Given the description of an element on the screen output the (x, y) to click on. 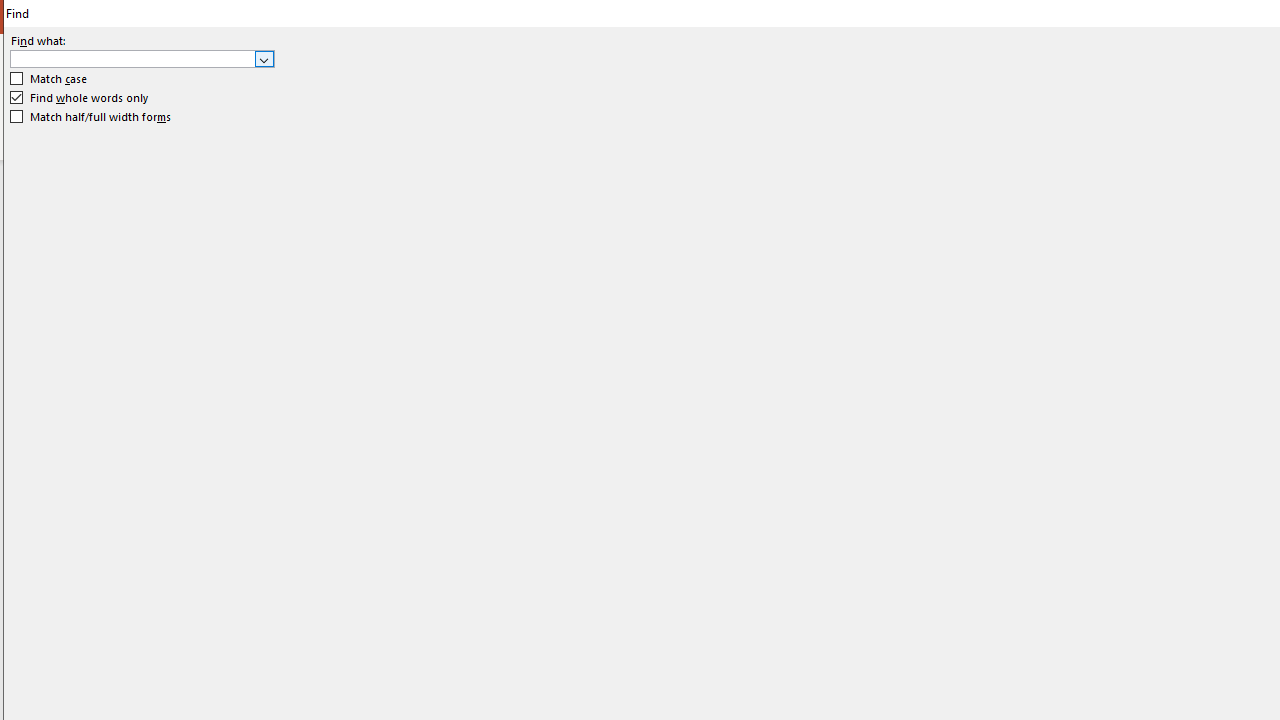
Match half/full width forms (91, 116)
Match case (49, 79)
Find what (142, 58)
Find what (132, 58)
Find whole words only (79, 97)
